Given the description of an element on the screen output the (x, y) to click on. 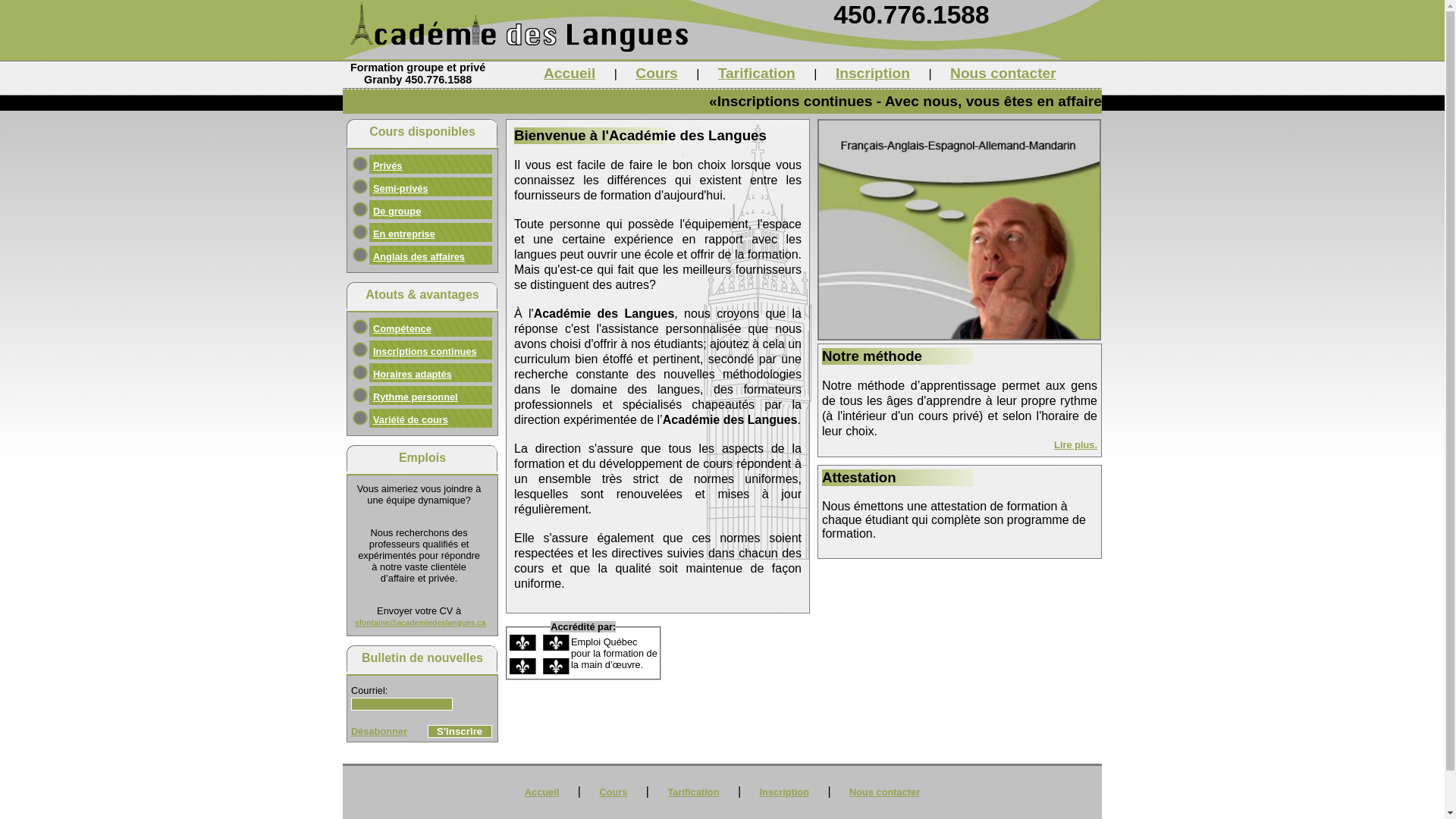
Nous contacter Element type: text (884, 791)
Inscriptions continues Element type: text (424, 351)
Lire plus. Element type: text (1075, 444)
Tarification Element type: text (756, 73)
Accueil Element type: text (569, 73)
De groupe Element type: text (396, 210)
Anglais des affaires Element type: text (418, 256)
Inscription Element type: text (872, 73)
Cours Element type: text (656, 73)
Cours Element type: text (613, 791)
sfontaine@academiedeslangues.ca Element type: text (420, 622)
Nous contacter Element type: text (1003, 73)
Accueil Element type: text (541, 791)
Rythme personnel Element type: text (415, 396)
Inscription Element type: text (784, 791)
En entreprise Element type: text (404, 233)
S'inscrire Element type: text (459, 730)
Tarification Element type: text (692, 791)
